Given the description of an element on the screen output the (x, y) to click on. 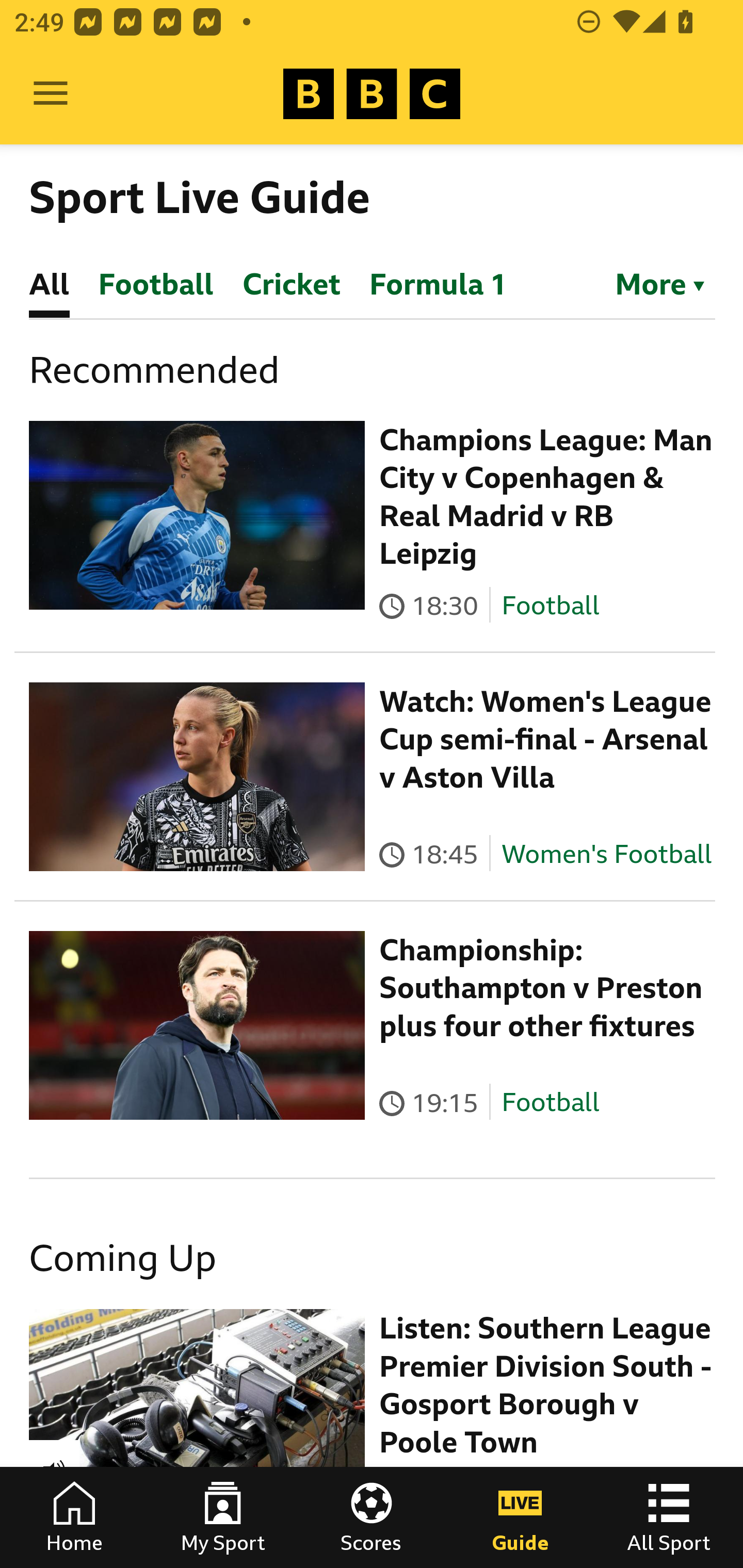
Open Menu (50, 93)
Football (550, 604)
Women's Football (606, 853)
Football (550, 1102)
Home (74, 1517)
My Sport (222, 1517)
Scores (371, 1517)
All Sport (668, 1517)
